Given the description of an element on the screen output the (x, y) to click on. 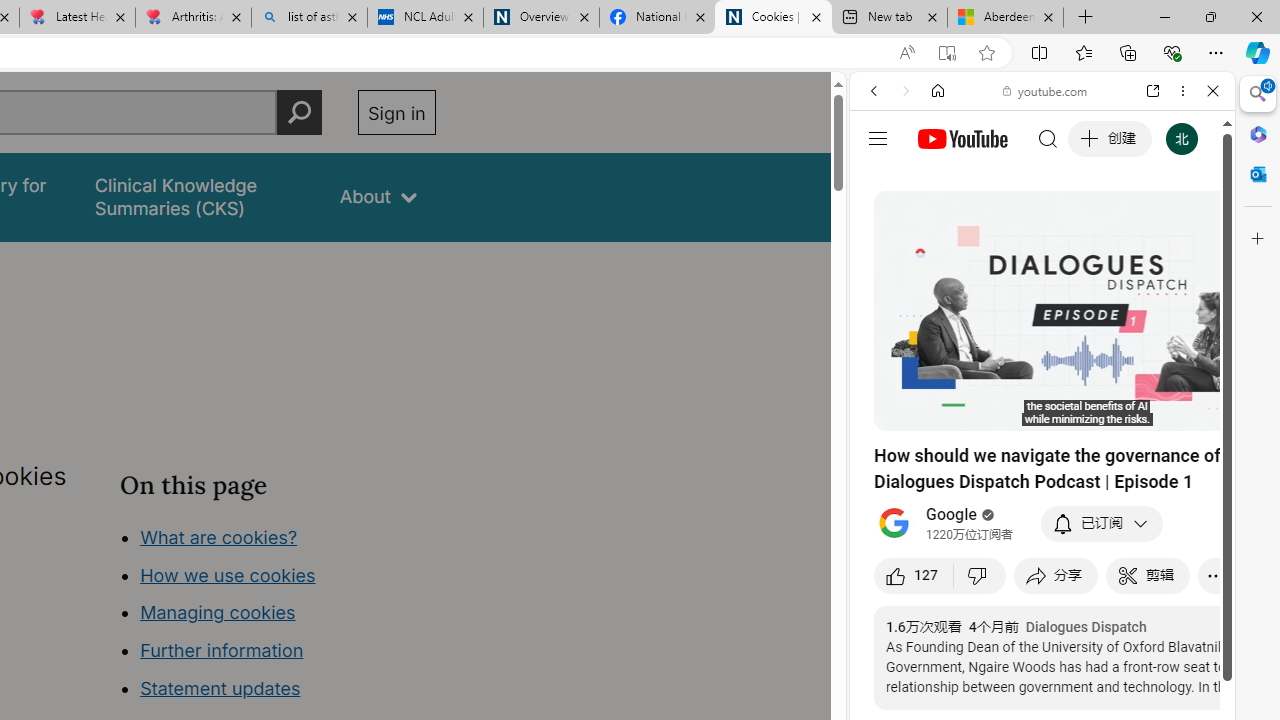
Managing cookies (217, 612)
What are cookies? (218, 536)
